Given the description of an element on the screen output the (x, y) to click on. 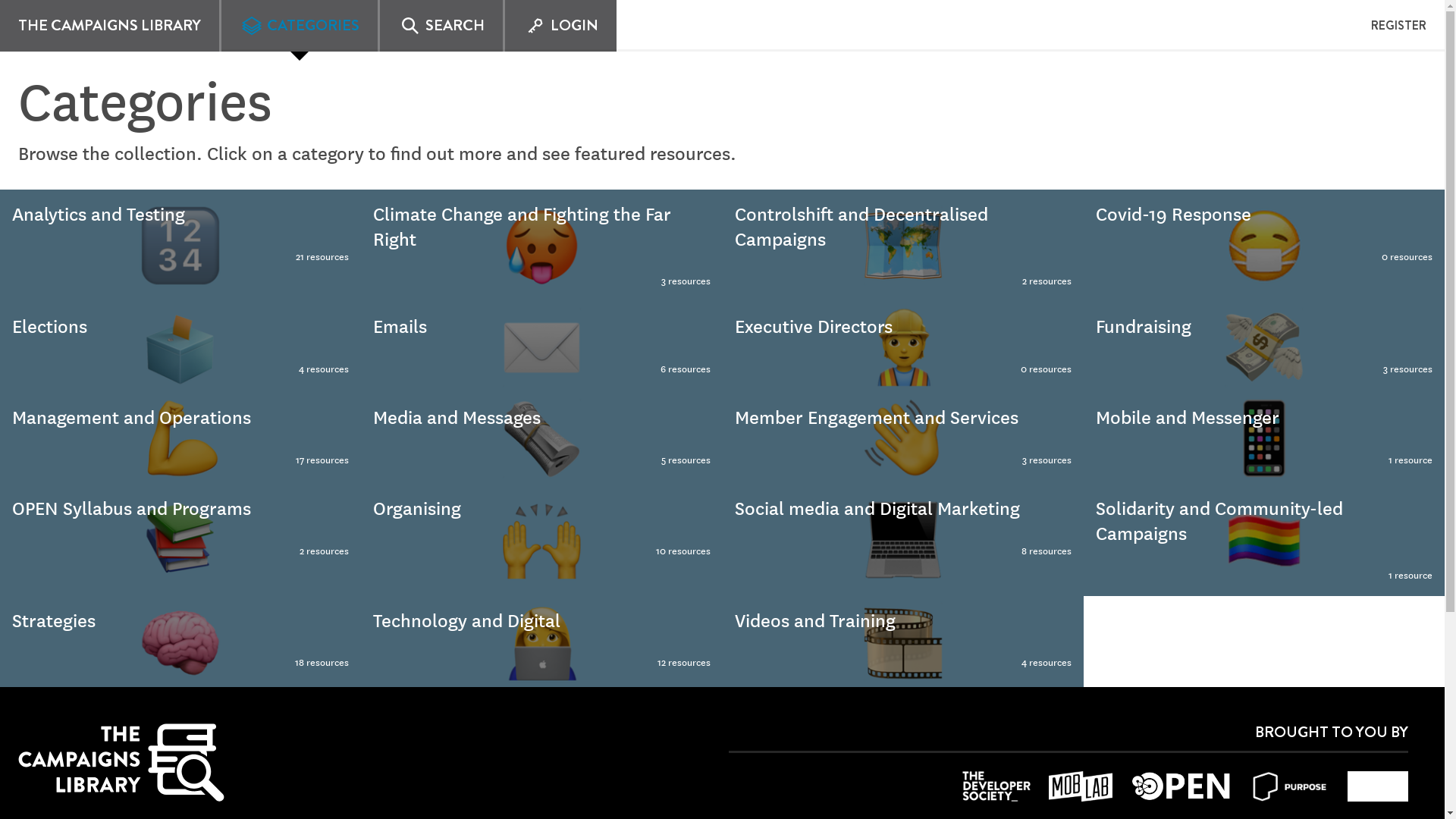
CATEGORIES (180, 347)
SEARCH (299, 25)
The Campaigns Library (902, 347)
THE CAMPAIGNS LIBRARY (902, 245)
LOGIN (441, 25)
